Given the description of an element on the screen output the (x, y) to click on. 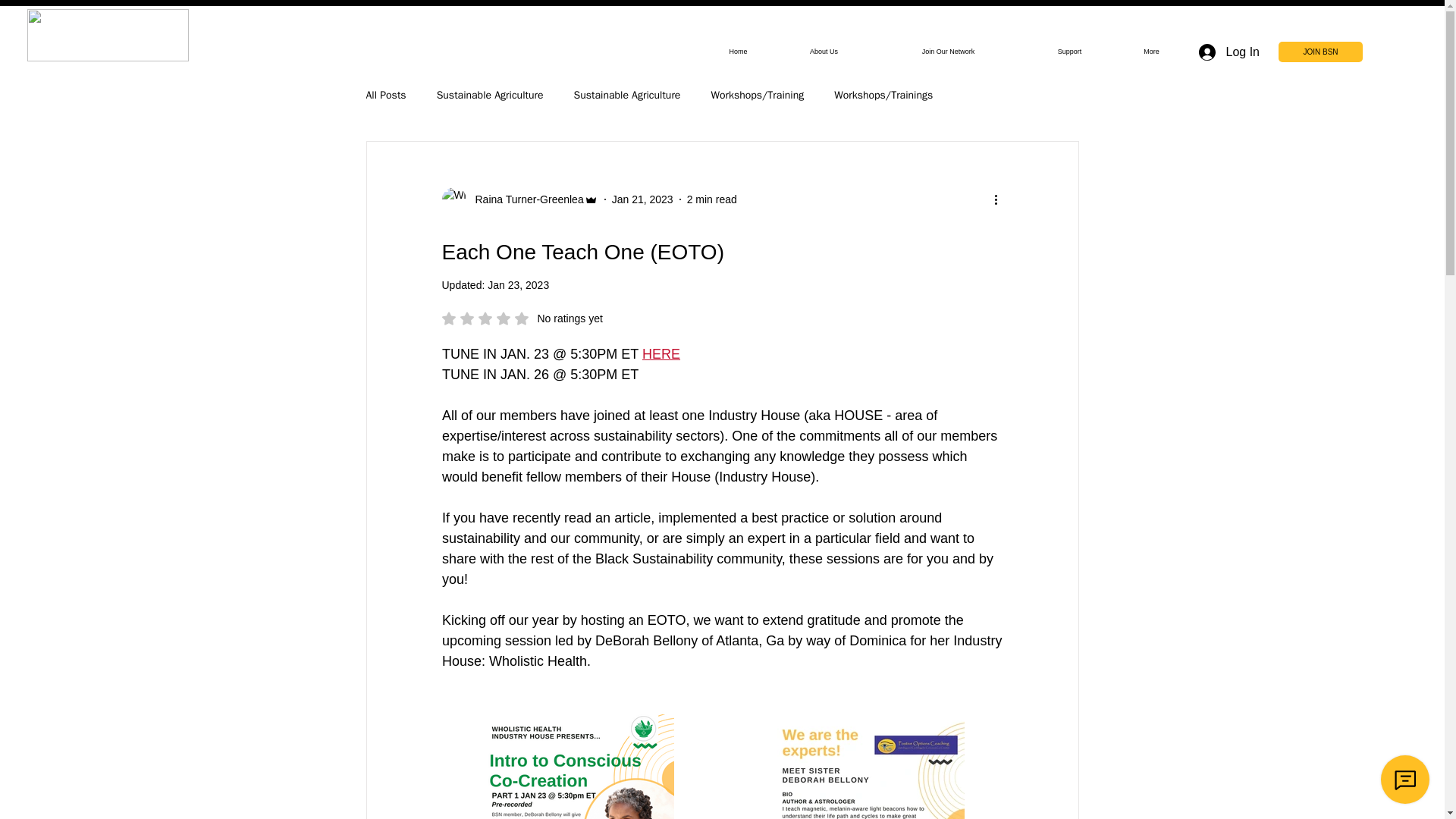
Join Our Network (947, 51)
JOIN BSN (1320, 51)
Raina Turner-Greenlea (524, 198)
Raina Turner-Greenlea (518, 199)
All Posts (385, 95)
Sustainable Agriculture (489, 95)
HERE (660, 353)
Sustainable Agriculture (627, 95)
2 min read (711, 198)
Home (521, 318)
Jan 21, 2023 (737, 51)
Jan 23, 2023 (641, 198)
Log In (517, 285)
Support (1228, 51)
